Given the description of an element on the screen output the (x, y) to click on. 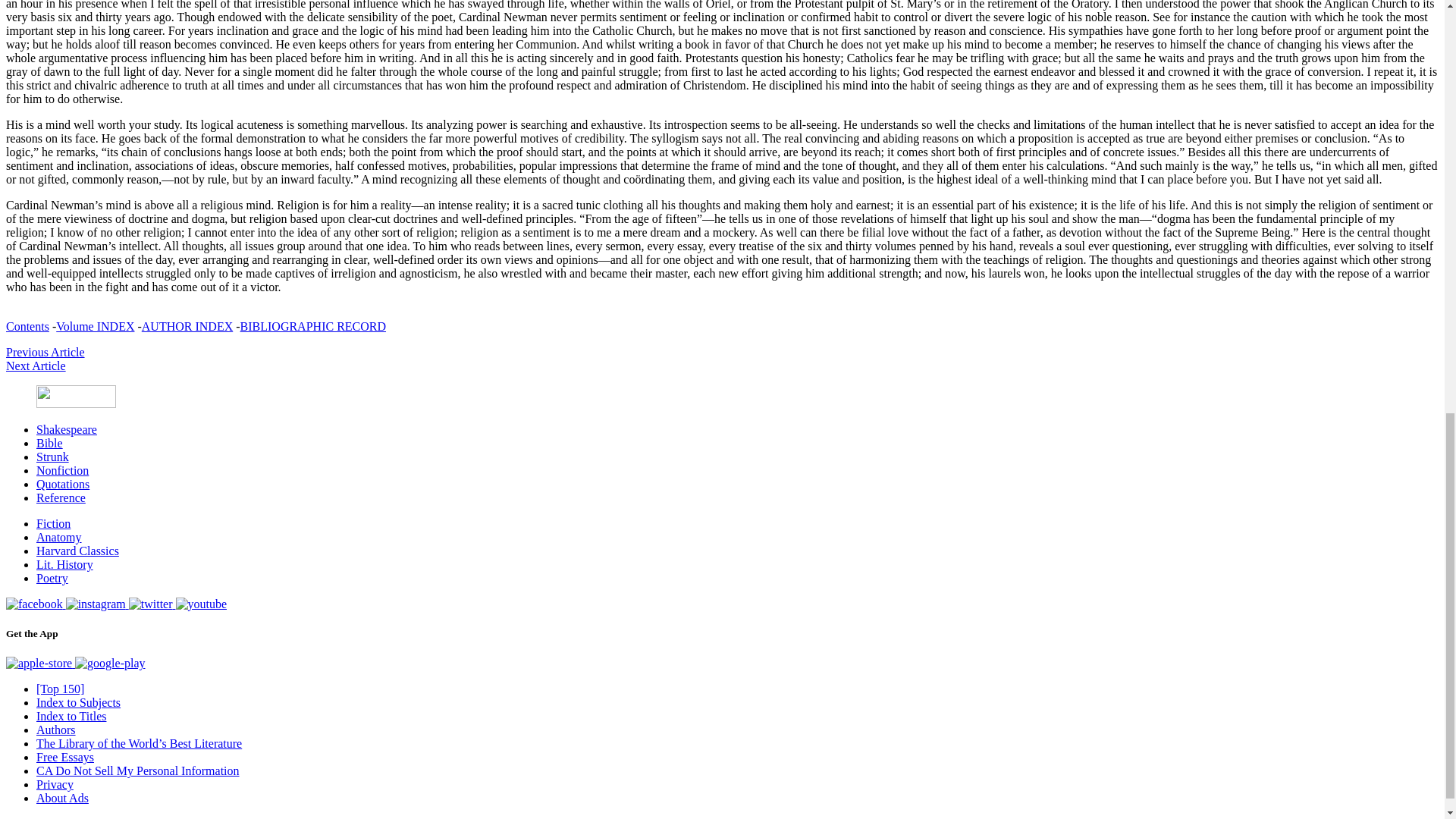
Reference (60, 497)
Anatomy (58, 536)
Fiction (52, 522)
Volume INDEX (94, 326)
Previous Article (44, 351)
BIBLIOGRAPHIC RECORD (312, 326)
Next Article (35, 365)
Bible (49, 442)
Lit. History (64, 563)
Nonfiction (62, 470)
Strunk (52, 456)
Contents (27, 326)
Shakespeare (66, 429)
Quotations (62, 483)
AUTHOR INDEX (186, 326)
